Given the description of an element on the screen output the (x, y) to click on. 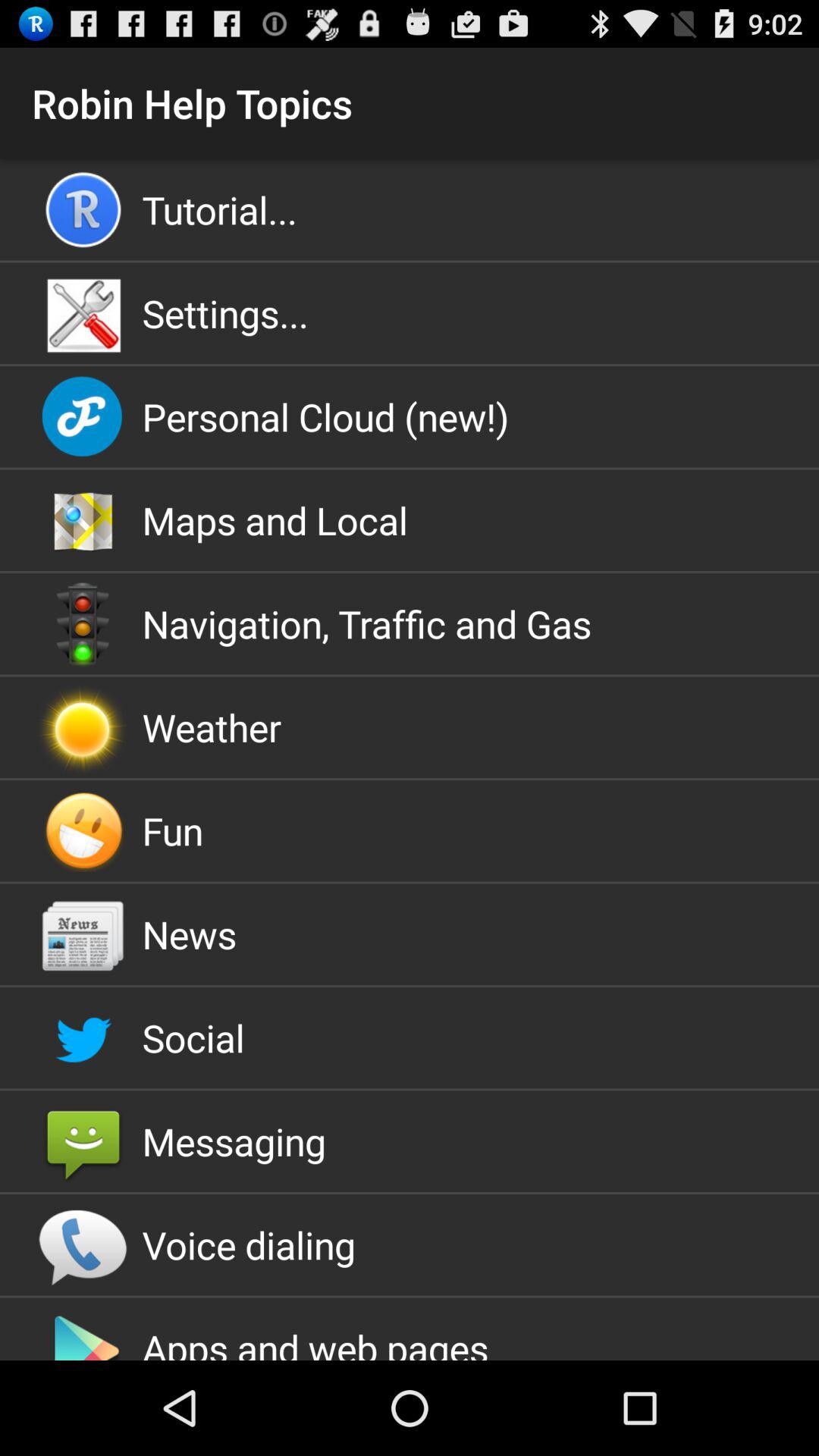
tap navigation traffic and (409, 623)
